Given the description of an element on the screen output the (x, y) to click on. 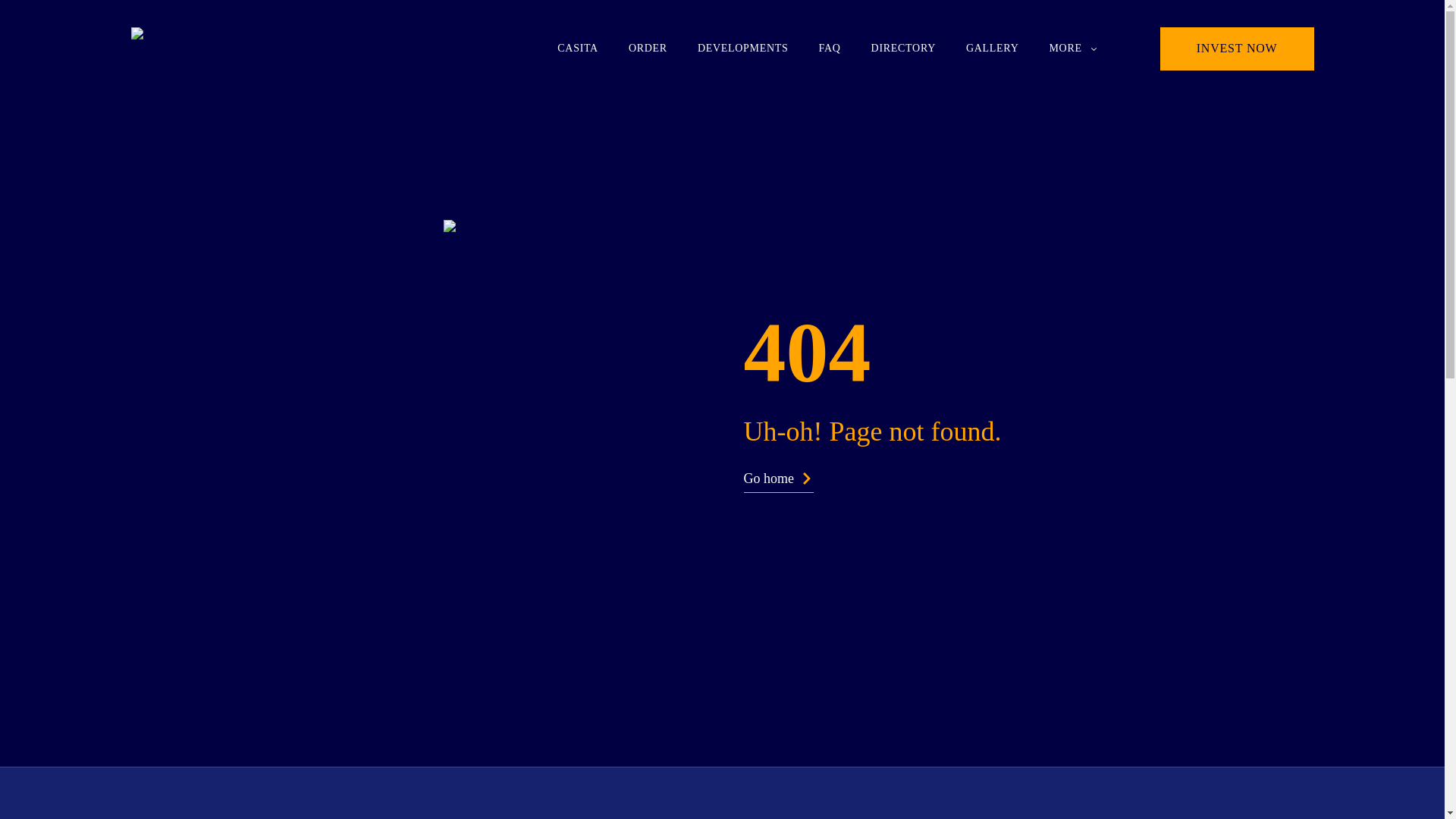
DIRECTORY (903, 48)
FAQ (829, 48)
CASITA (577, 48)
DEVELOPMENTS (743, 48)
GALLERY (991, 48)
ORDER (647, 48)
INVEST NOW (1237, 48)
MORE (1073, 48)
Go home (778, 480)
